Given the description of an element on the screen output the (x, y) to click on. 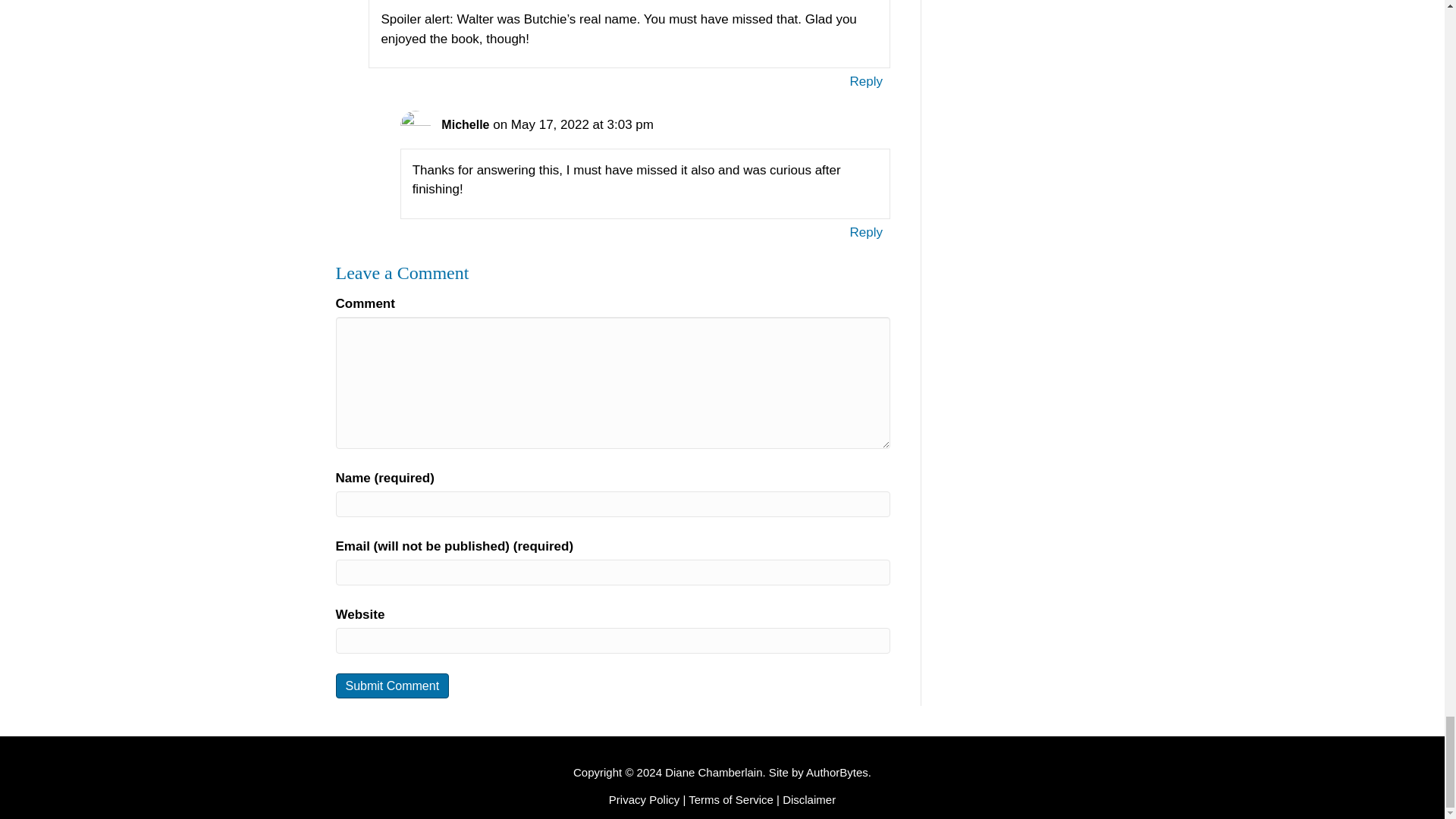
Submit Comment (391, 685)
